Given the description of an element on the screen output the (x, y) to click on. 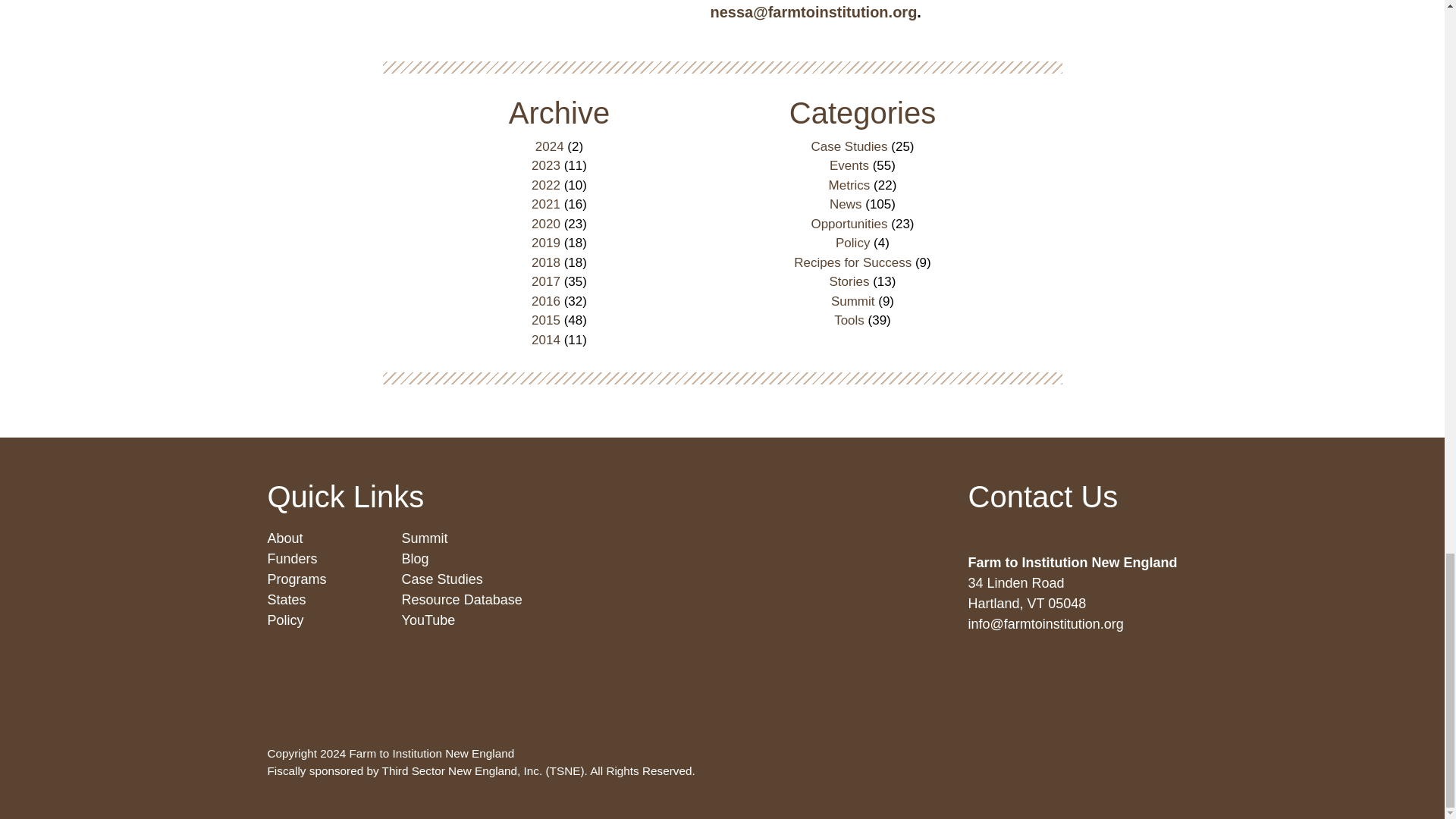
2019 (545, 242)
2015 (545, 319)
2016 (545, 301)
Stories (849, 281)
2020 (545, 223)
2023 (545, 165)
Metrics (849, 185)
2017 (545, 281)
Policy (852, 242)
Events (849, 165)
News (845, 204)
2021 (545, 204)
2022 (545, 185)
Opportunities (848, 223)
Tools (849, 319)
